Given the description of an element on the screen output the (x, y) to click on. 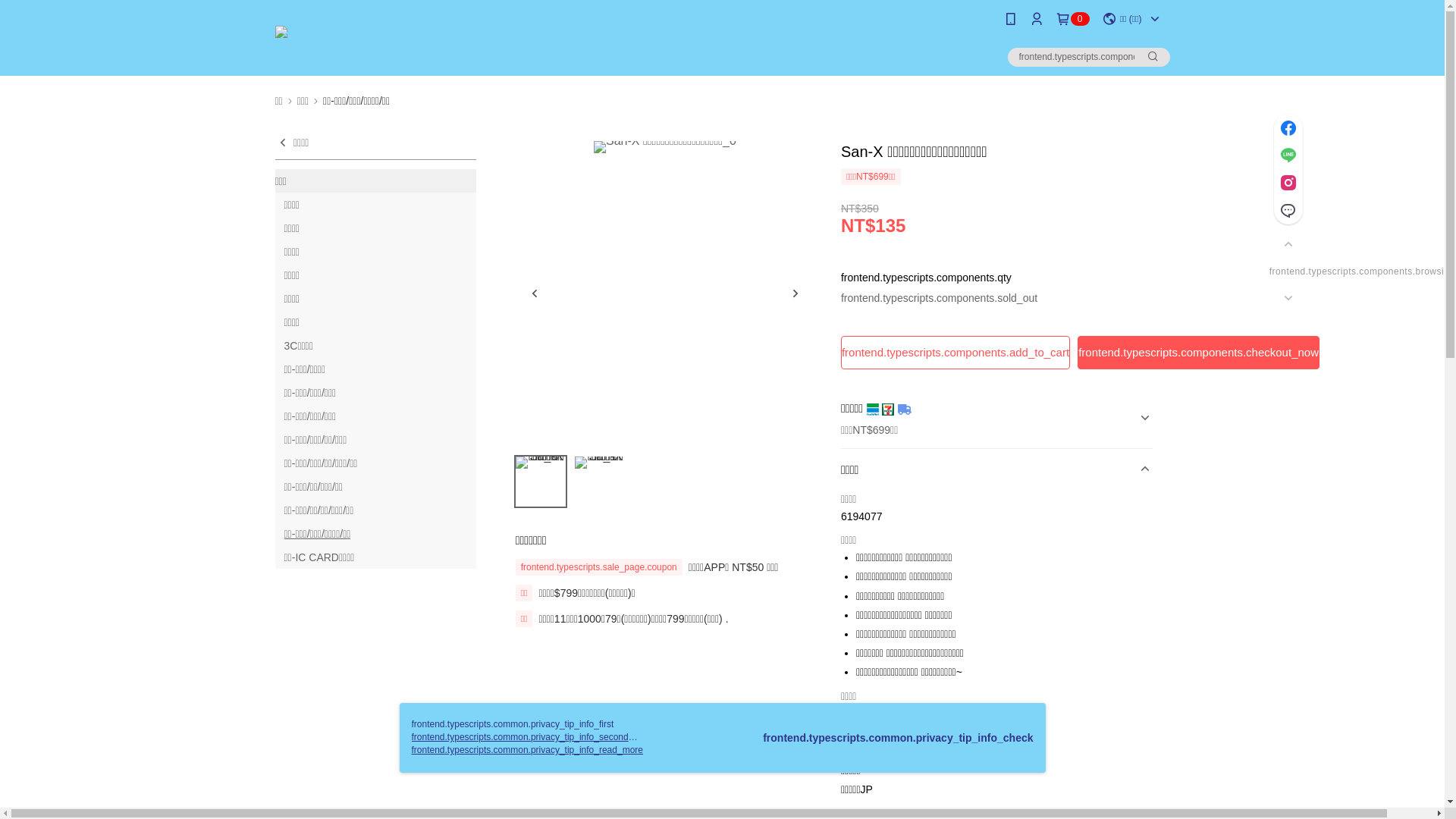
frontend.typescripts.common.privacy_tip_info_check Element type: text (897, 737)
frontend.typescripts.common.privacy_tip_info_second Element type: text (519, 736)
frontend.typescripts.components.checkout_now Element type: text (1198, 352)
frontend.typescripts.components.add_to_cart Element type: text (955, 352)
frontend.typescripts.common.privacy_tip_info_read_more Element type: text (526, 749)
0 Element type: text (1072, 18)
